Given the description of an element on the screen output the (x, y) to click on. 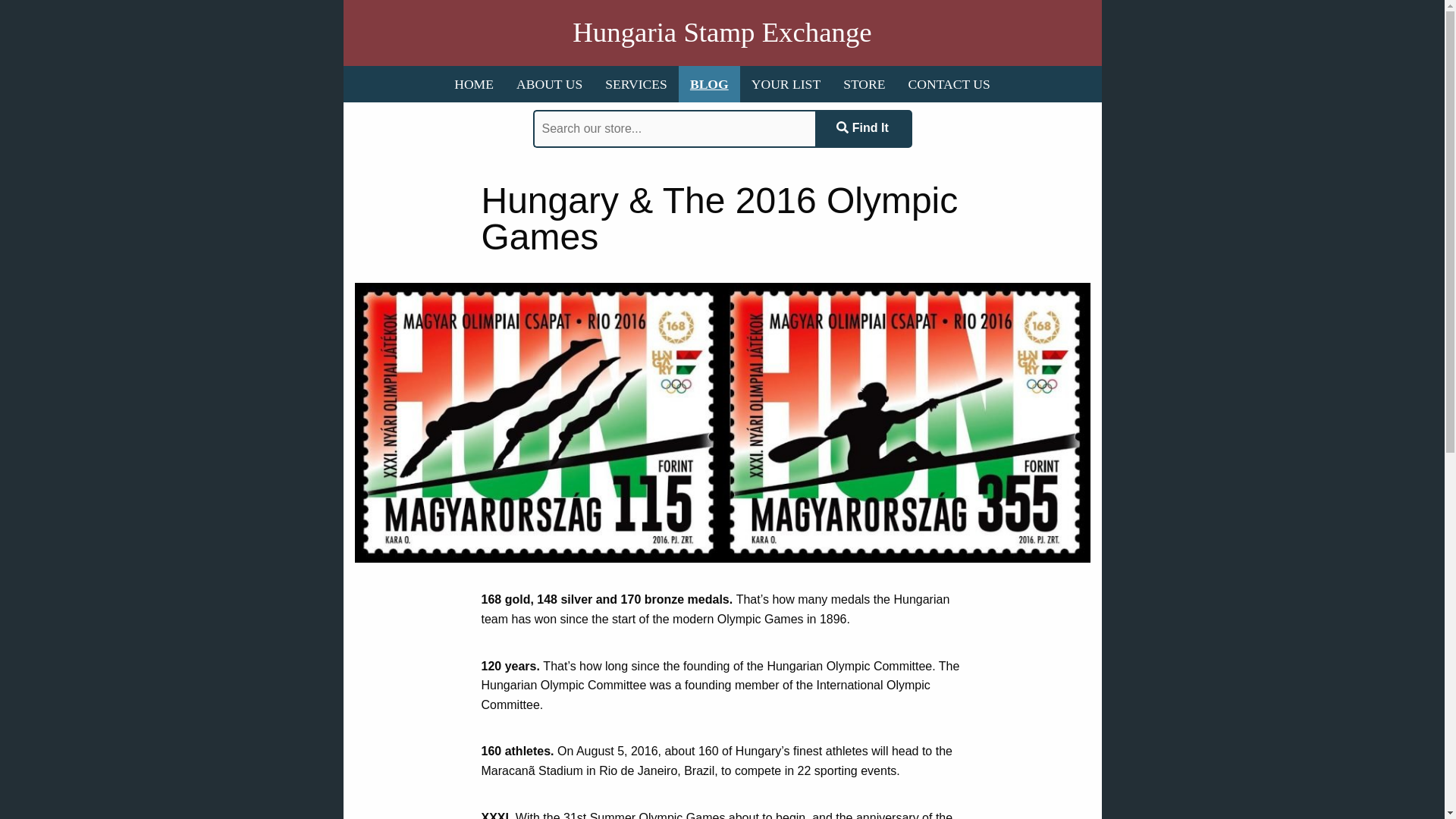
BLOG (708, 84)
YOUR LIST (785, 84)
HOME (473, 84)
Find It (862, 128)
Hungaria Stamp Exchange (721, 33)
STORE (863, 84)
ABOUT US (549, 84)
SERVICES (636, 84)
CONTACT US (948, 84)
